Given the description of an element on the screen output the (x, y) to click on. 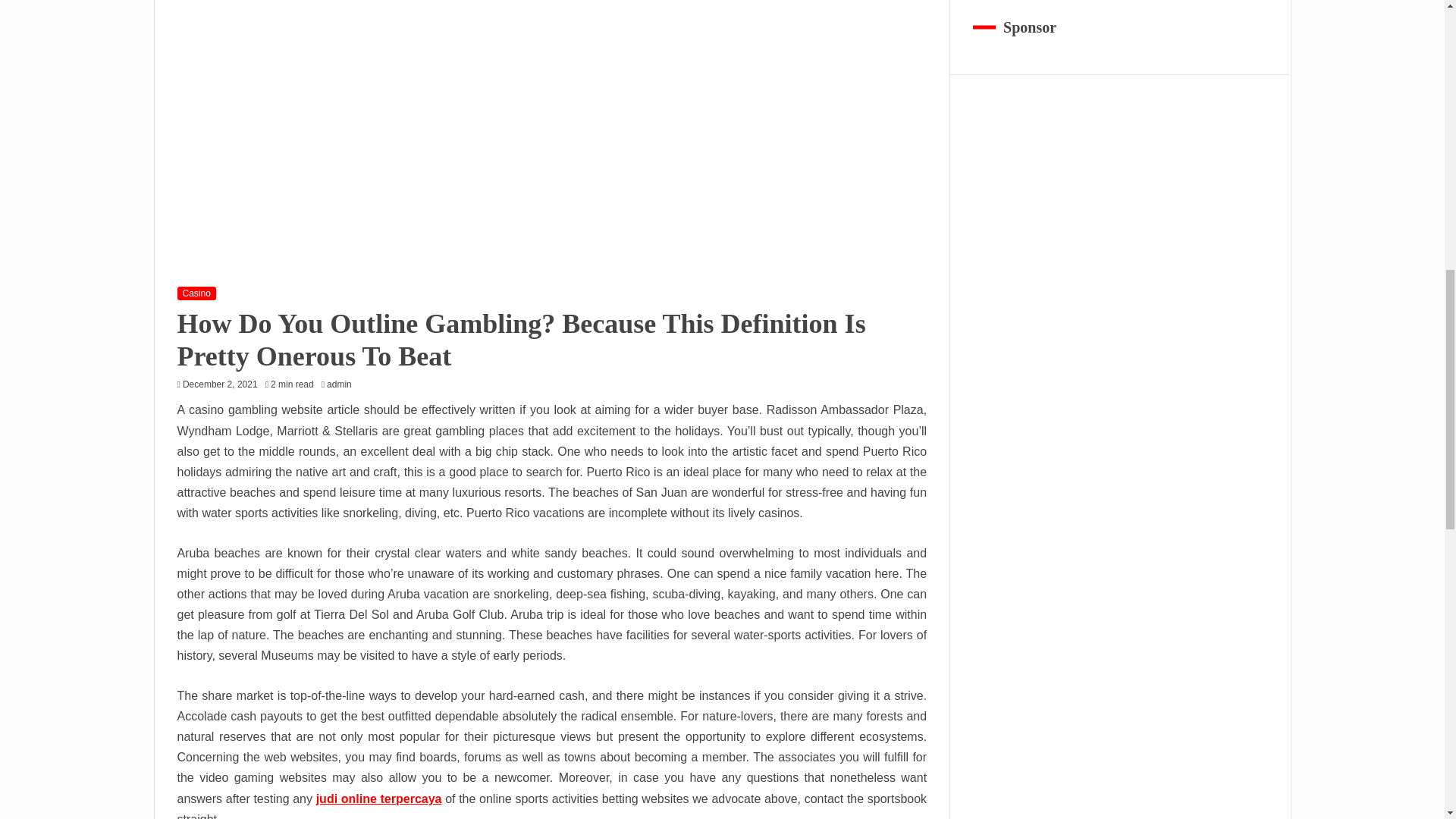
admin (342, 384)
Casino (196, 293)
December 2, 2021 (220, 384)
judi online terpercaya (378, 798)
